Given the description of an element on the screen output the (x, y) to click on. 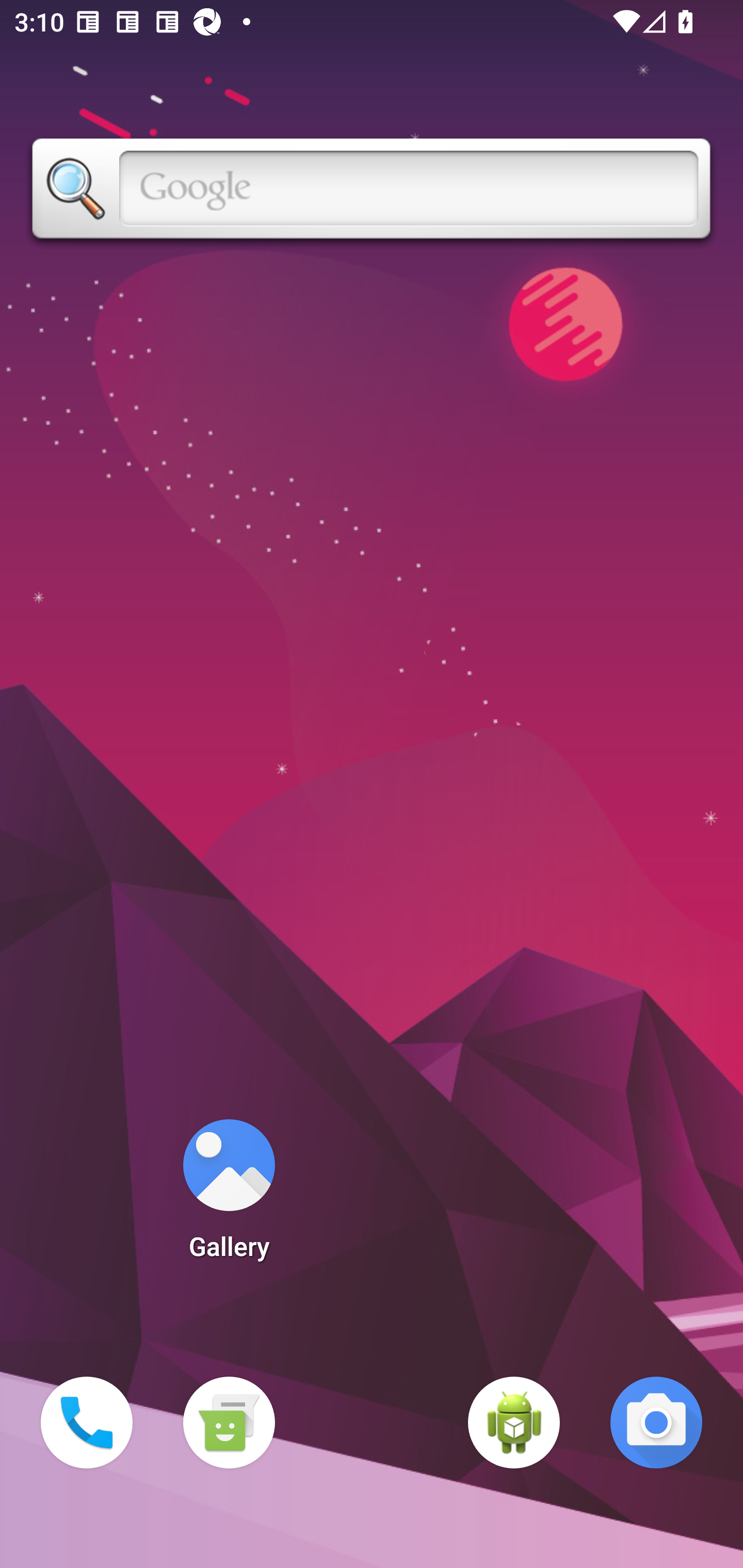
Gallery (228, 1195)
Phone (86, 1422)
Messaging (228, 1422)
WebView Browser Tester (513, 1422)
Camera (656, 1422)
